Given the description of an element on the screen output the (x, y) to click on. 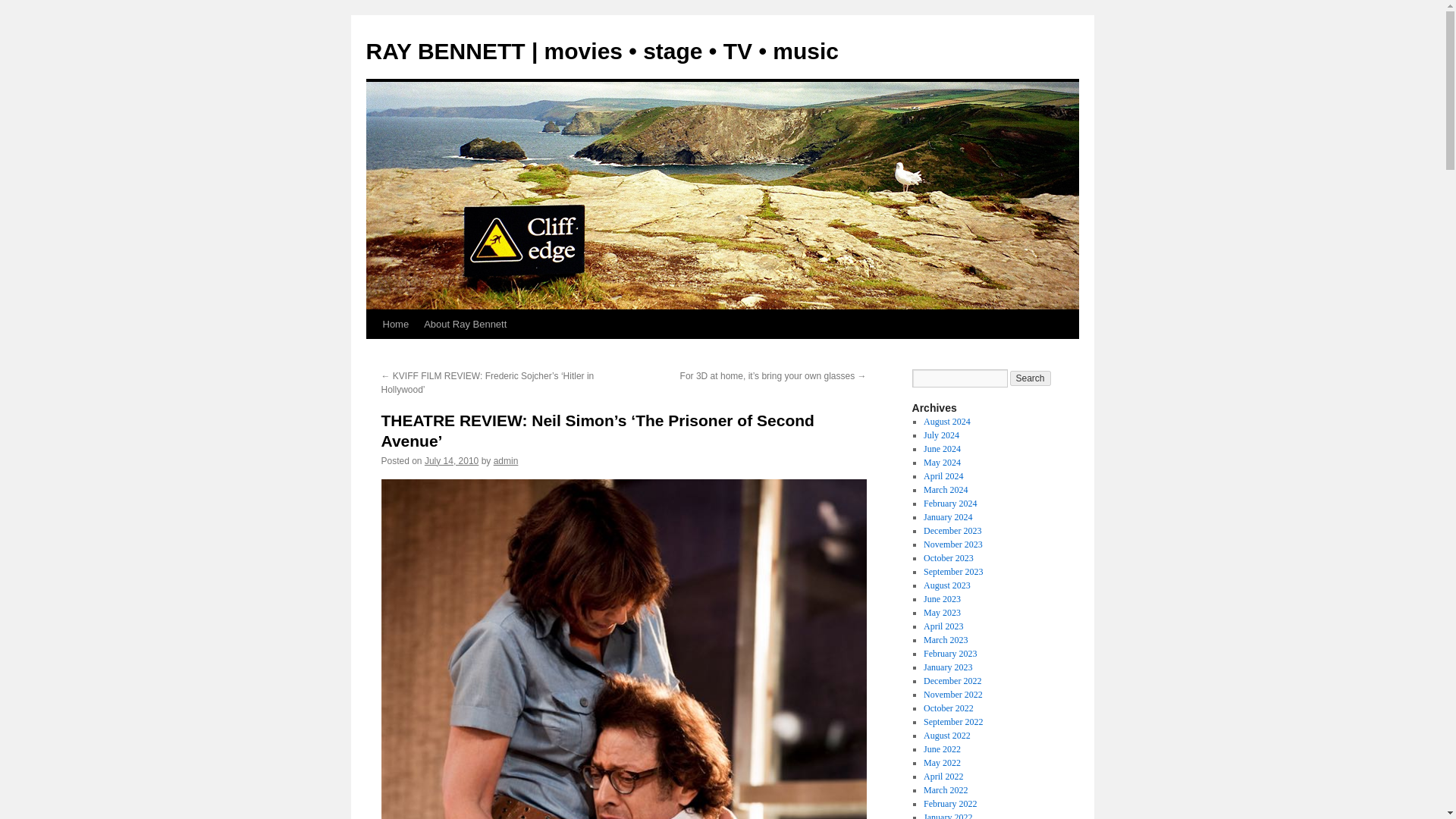
October 2023 (948, 557)
June 2024 (941, 448)
August 2024 (947, 421)
August 2023 (947, 584)
May 2024 (941, 462)
March 2024 (945, 489)
September 2023 (952, 571)
About Ray Bennett (464, 324)
November 2023 (952, 543)
admin (505, 460)
